Given the description of an element on the screen output the (x, y) to click on. 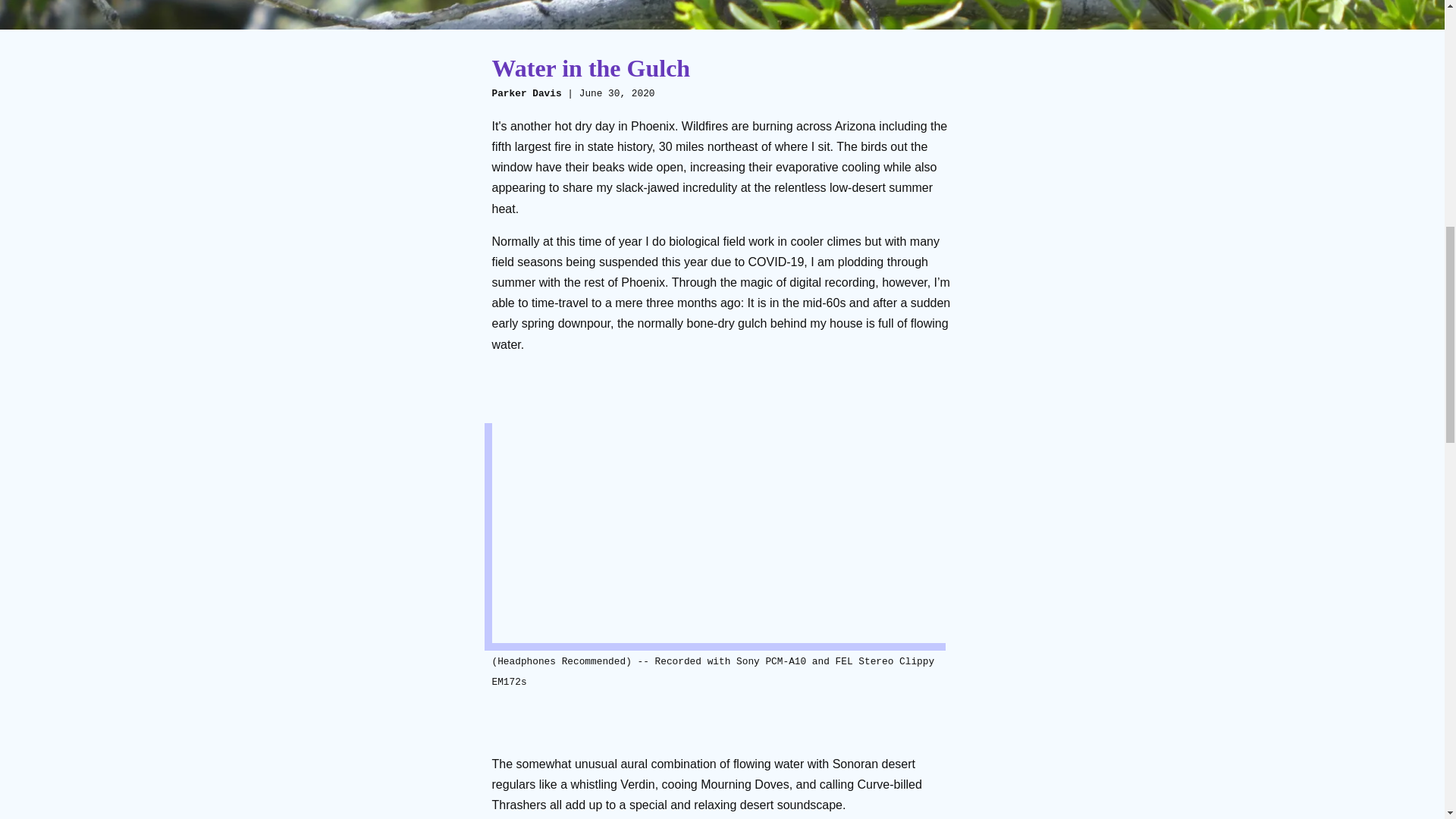
Water in the Gulch (591, 67)
